Given the description of an element on the screen output the (x, y) to click on. 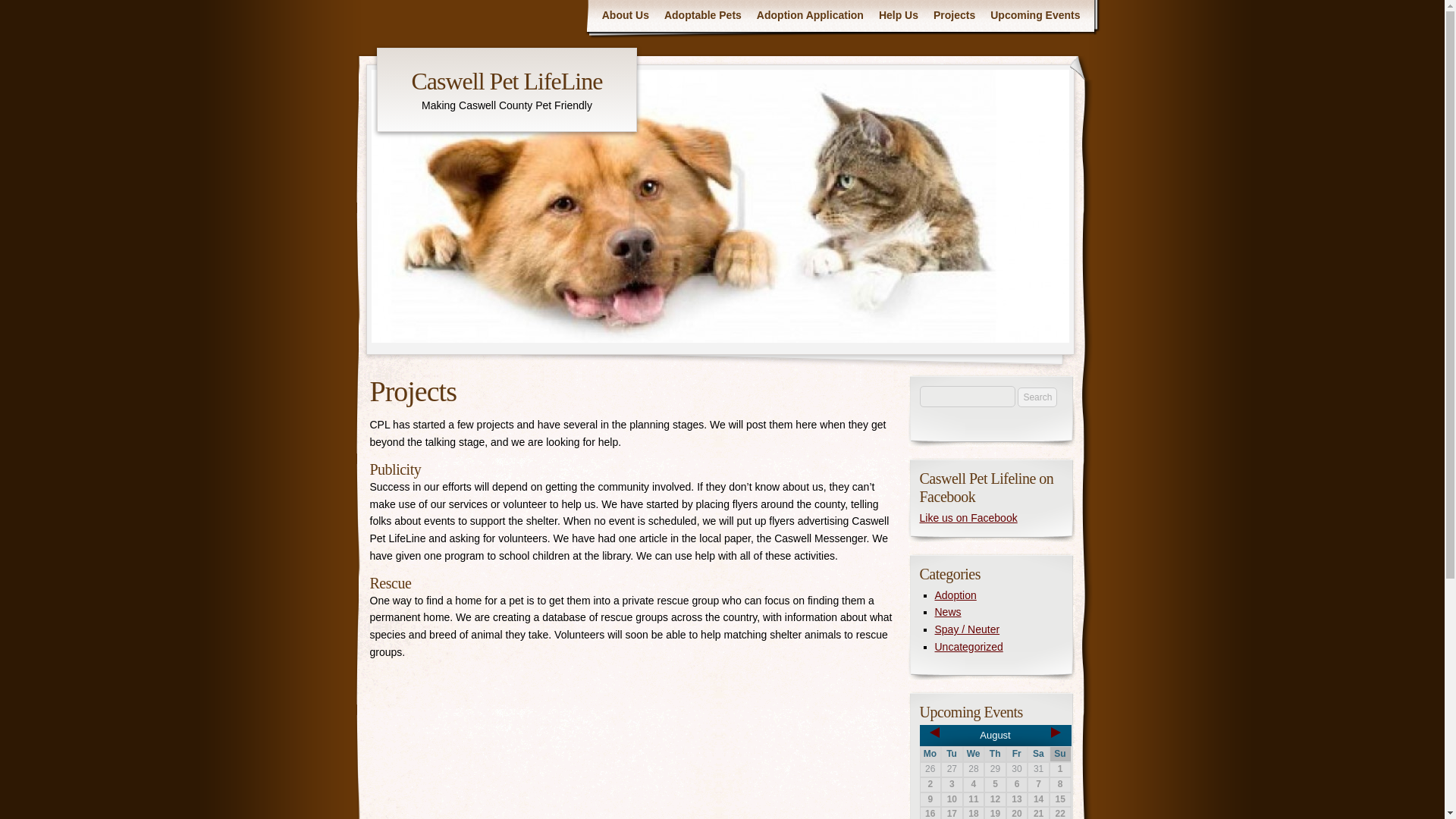
Search (1037, 397)
Adoption (954, 594)
Projects (954, 15)
Caswell Pet LifeLine (506, 81)
Help Us (898, 15)
News (947, 612)
Caswell Pet LifeLine (506, 81)
Search (1037, 397)
Uncategorized (968, 646)
Upcoming Events (1034, 15)
